Given the description of an element on the screen output the (x, y) to click on. 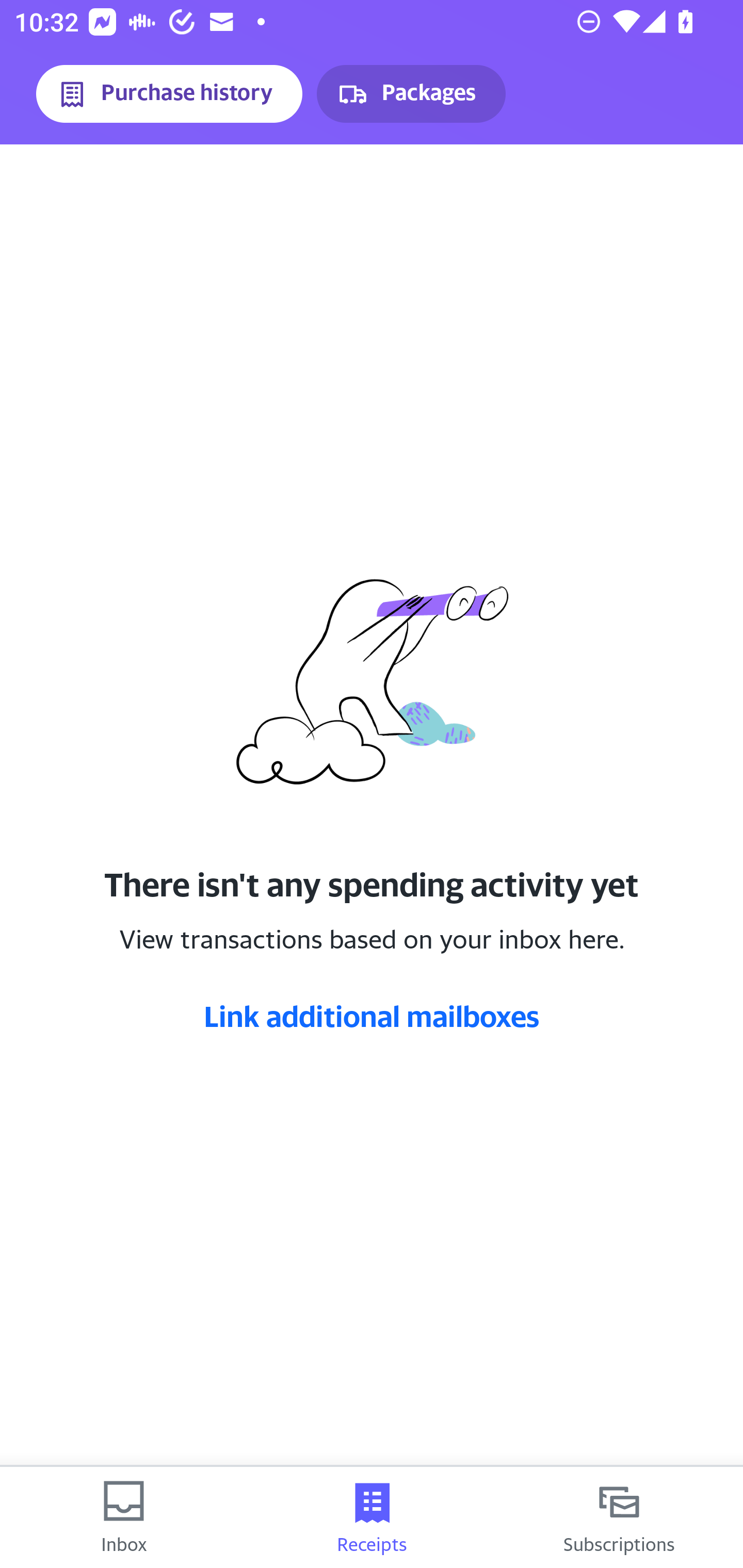
Packages (410, 93)
Link additional mailboxes (371, 1015)
Inbox (123, 1517)
Receipts (371, 1517)
Subscriptions (619, 1517)
